Given the description of an element on the screen output the (x, y) to click on. 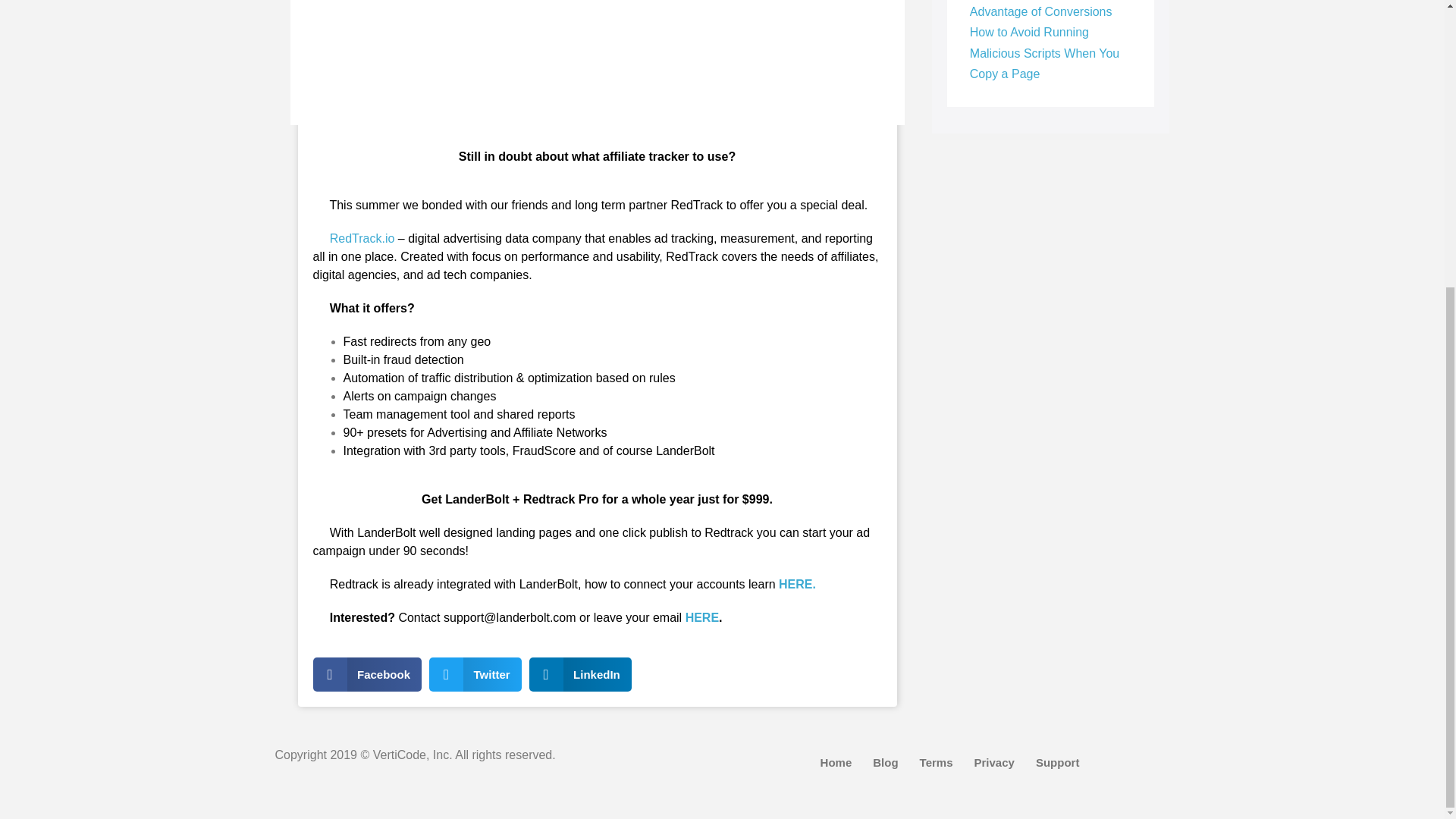
HERE (702, 617)
Privacy (994, 762)
8 Factors Taking Full Advantage of Conversions (1040, 9)
How to Avoid Running Malicious Scripts When You Copy a Page (1044, 52)
Terms (935, 762)
Home (836, 762)
Support (1057, 762)
 RedTrack.io (360, 237)
HERE. (796, 584)
Blog (884, 762)
